Given the description of an element on the screen output the (x, y) to click on. 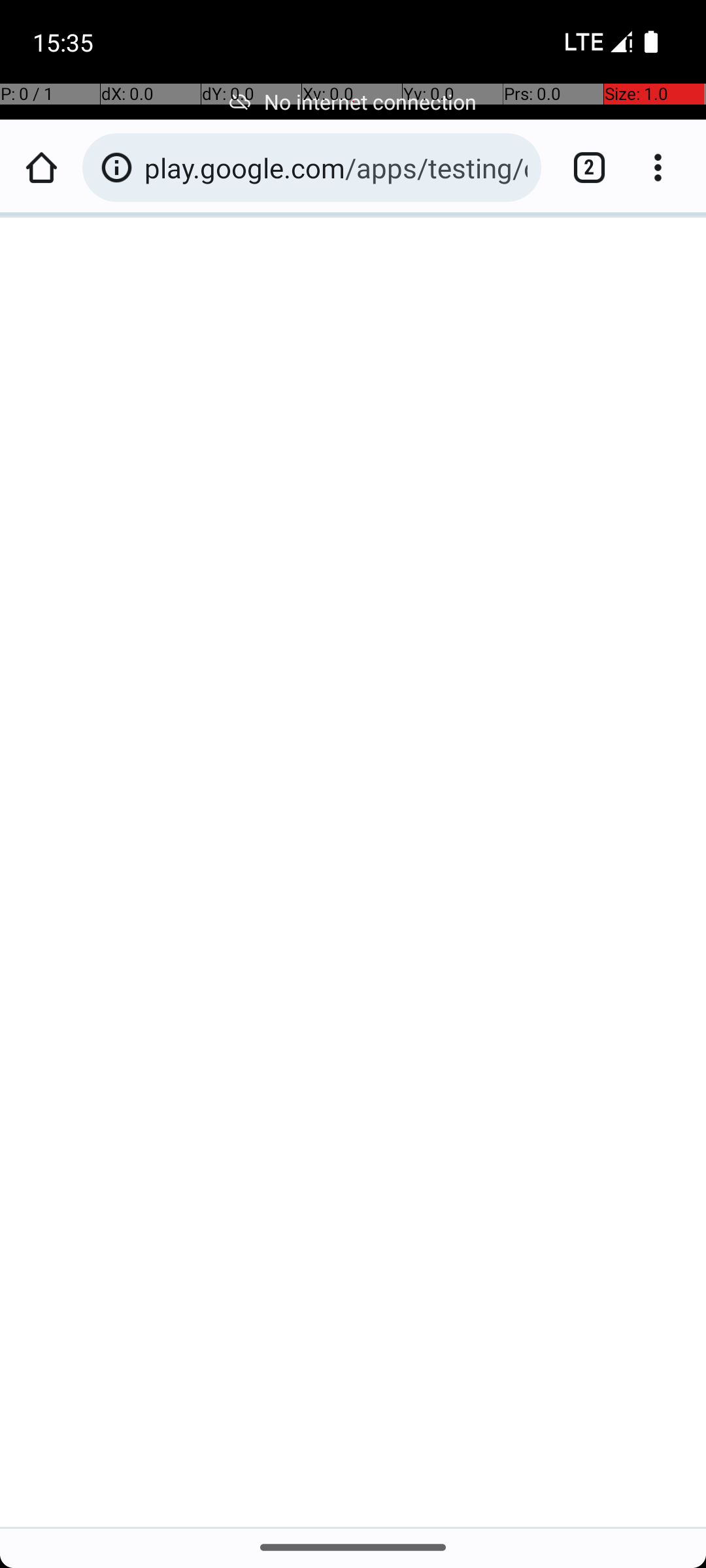
play.google.com/apps/testing/com.google.android.apps.wellbeing Element type: android.widget.EditText (335, 167)
